Given the description of an element on the screen output the (x, y) to click on. 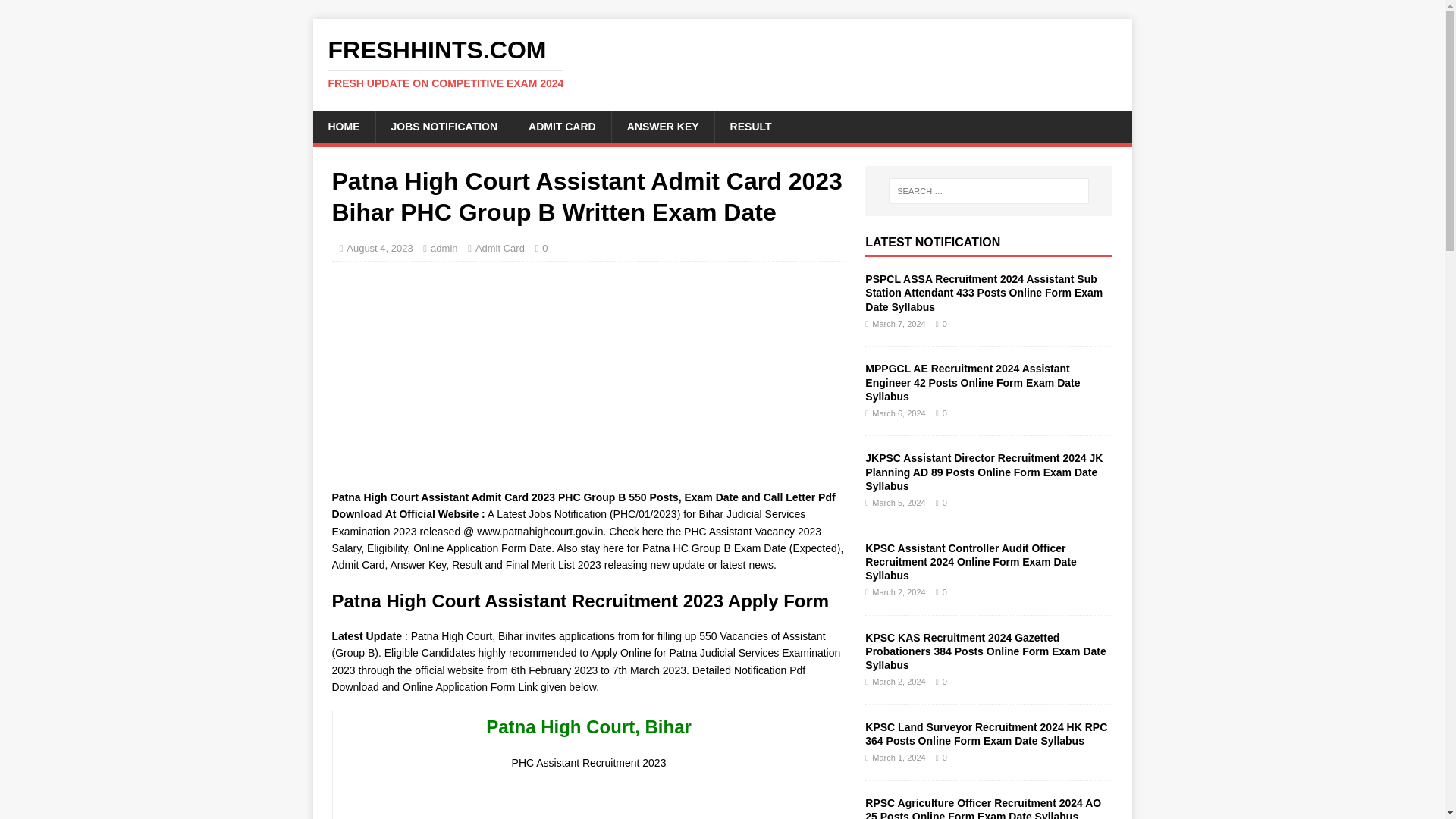
JOBS NOTIFICATION (443, 126)
admin (443, 247)
August 4, 2023 (379, 247)
ADMIT CARD (561, 126)
HOME (343, 126)
RESULT (750, 126)
LATEST NOTIFICATION (932, 241)
ANSWER KEY (662, 126)
FreshHints.Com (721, 63)
Admit Card (500, 247)
